Given the description of an element on the screen output the (x, y) to click on. 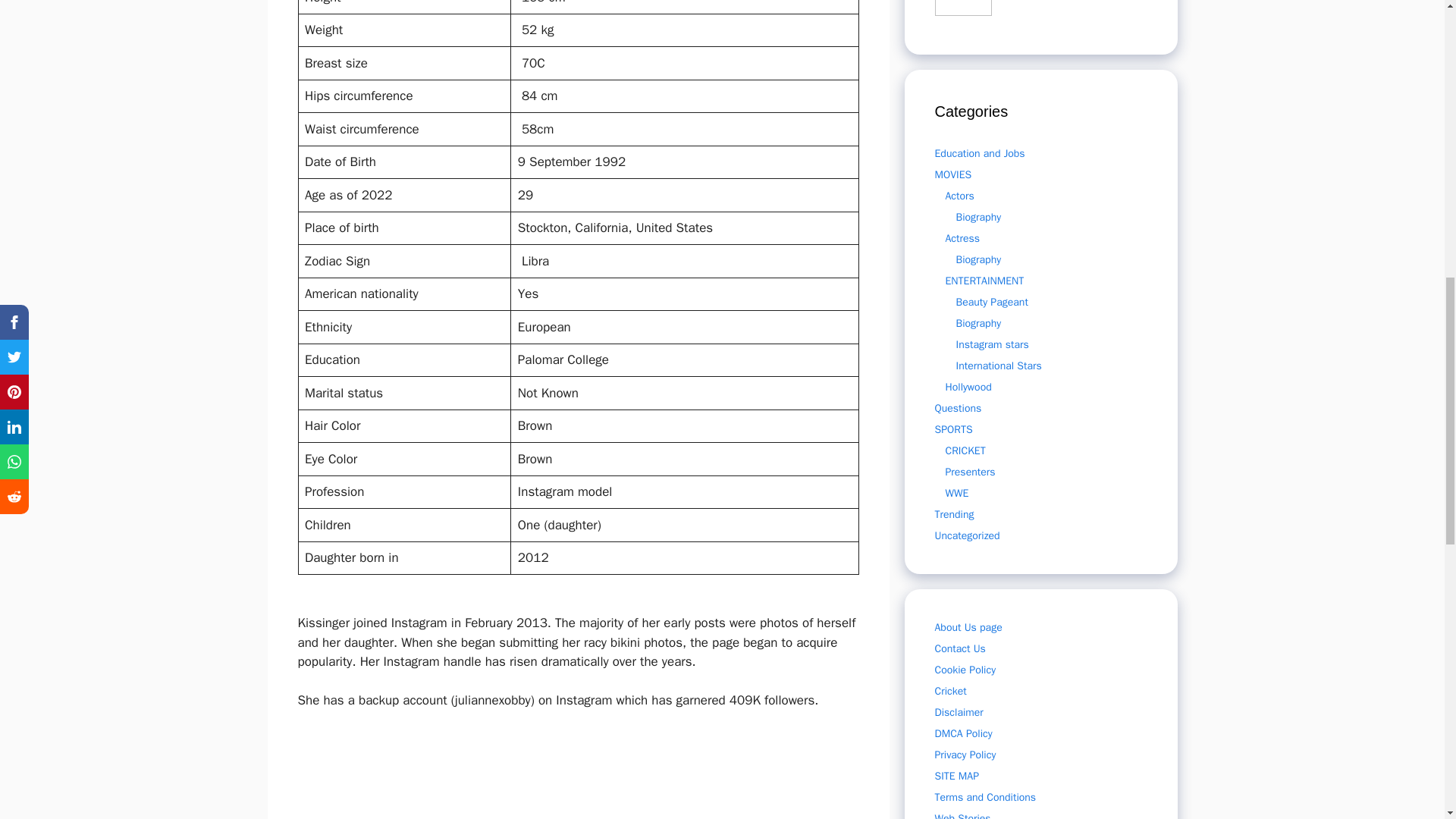
Julianne Kissinger (460, 774)
